Given the description of an element on the screen output the (x, y) to click on. 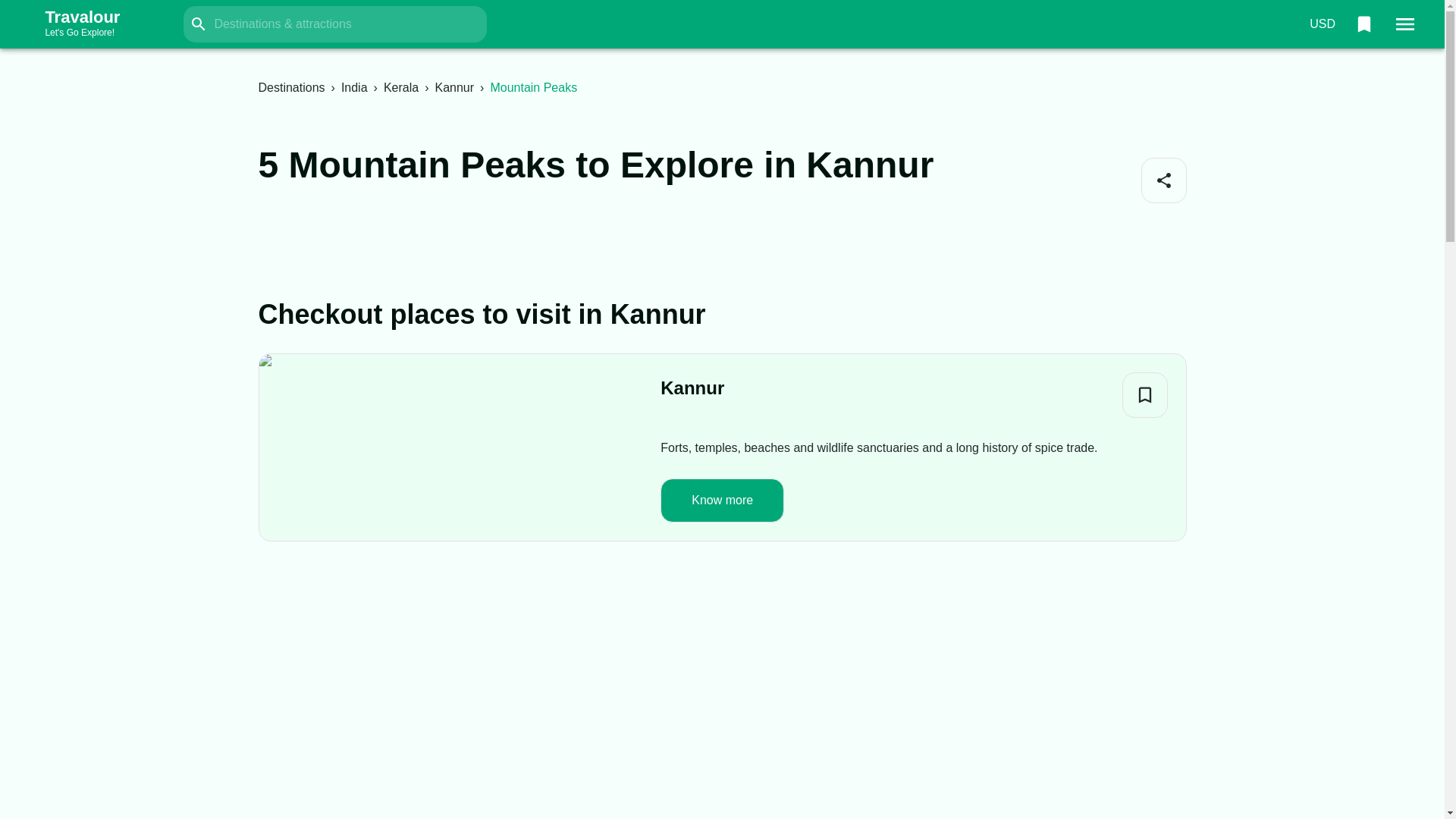
India (354, 87)
0 (1363, 24)
Kerala (401, 87)
Share (1163, 180)
Know more (722, 499)
Add to Bucket List (1144, 394)
Kannur (453, 87)
USD (1321, 23)
Destinations (290, 87)
Kannur (692, 388)
